Given the description of an element on the screen output the (x, y) to click on. 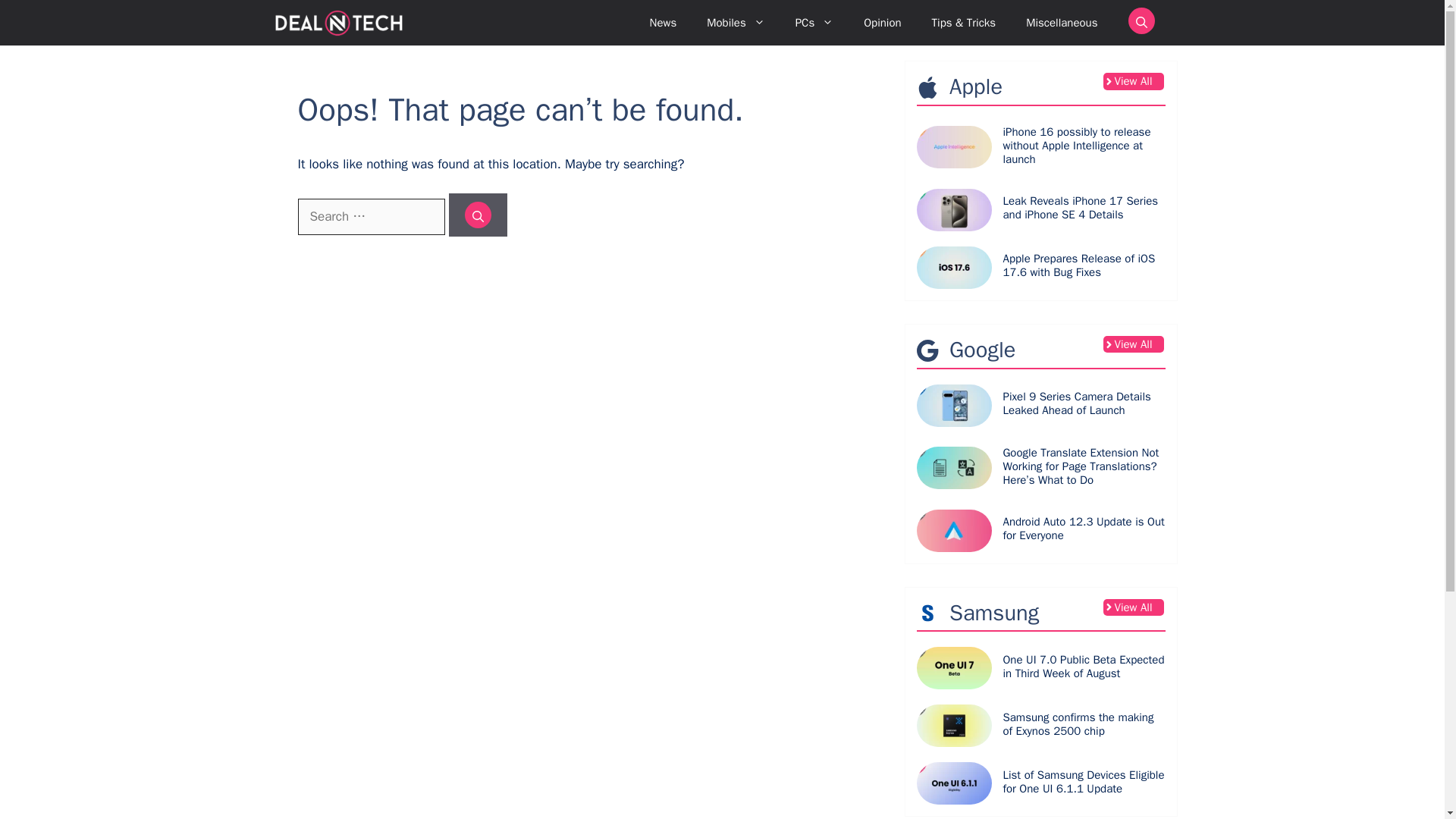
Deal N Tech (339, 22)
Mobiles (735, 22)
View All (1132, 81)
Opinion (881, 22)
Search for: (370, 217)
News (663, 22)
PCs (814, 22)
Miscellaneous (1061, 22)
